Given the description of an element on the screen output the (x, y) to click on. 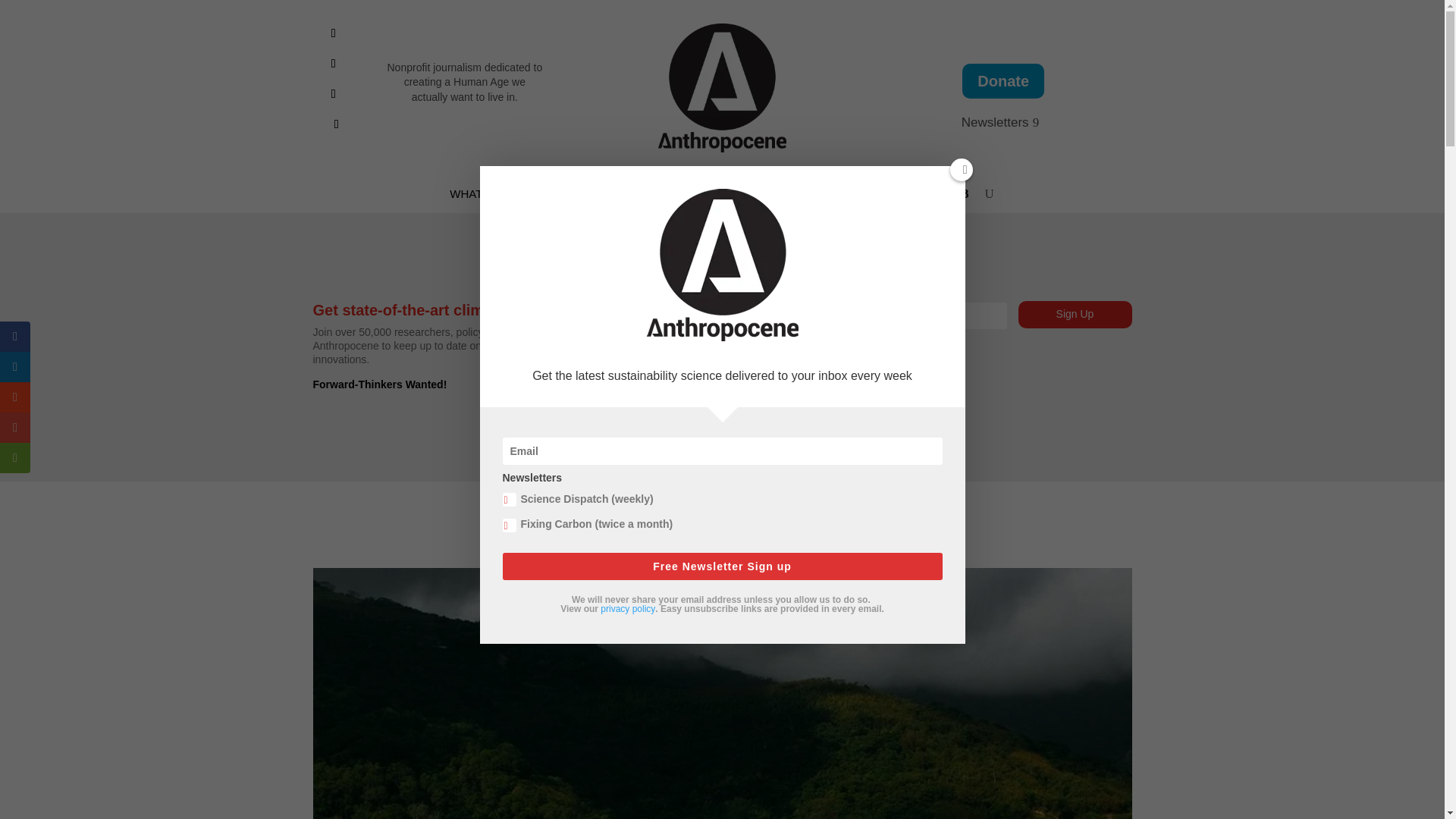
Donate (1002, 80)
SECTIONS (707, 197)
Follow on RSS (336, 124)
NEWSLETTERS (597, 197)
Follow on Facebook (333, 33)
PRINT EDITIONS (829, 197)
Anthropocene-mark250 (722, 87)
Newsletters (1003, 123)
Follow on FlipBoard (333, 93)
Follow on LinkedIn (333, 63)
